Given the description of an element on the screen output the (x, y) to click on. 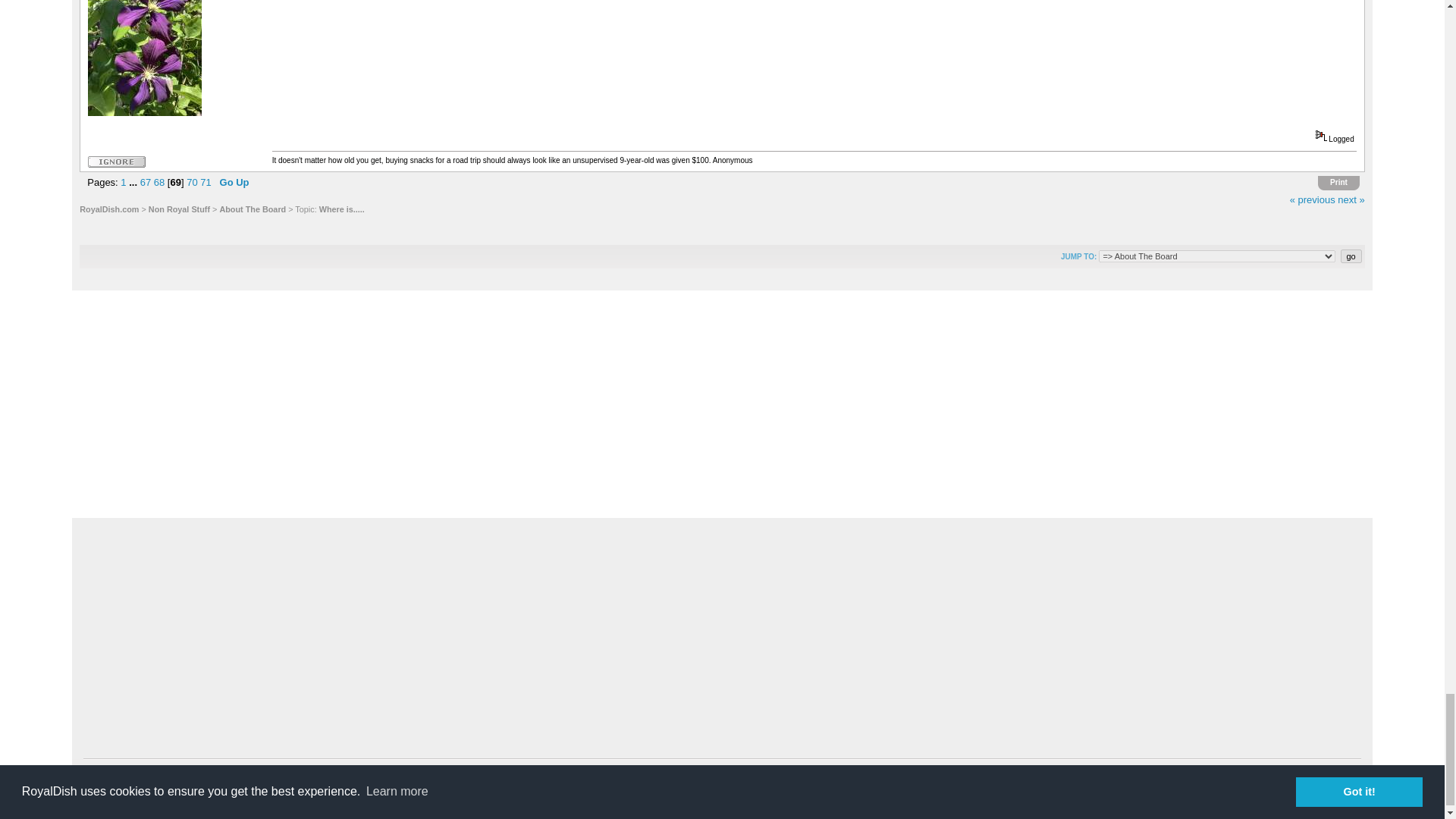
go (1350, 255)
